Given the description of an element on the screen output the (x, y) to click on. 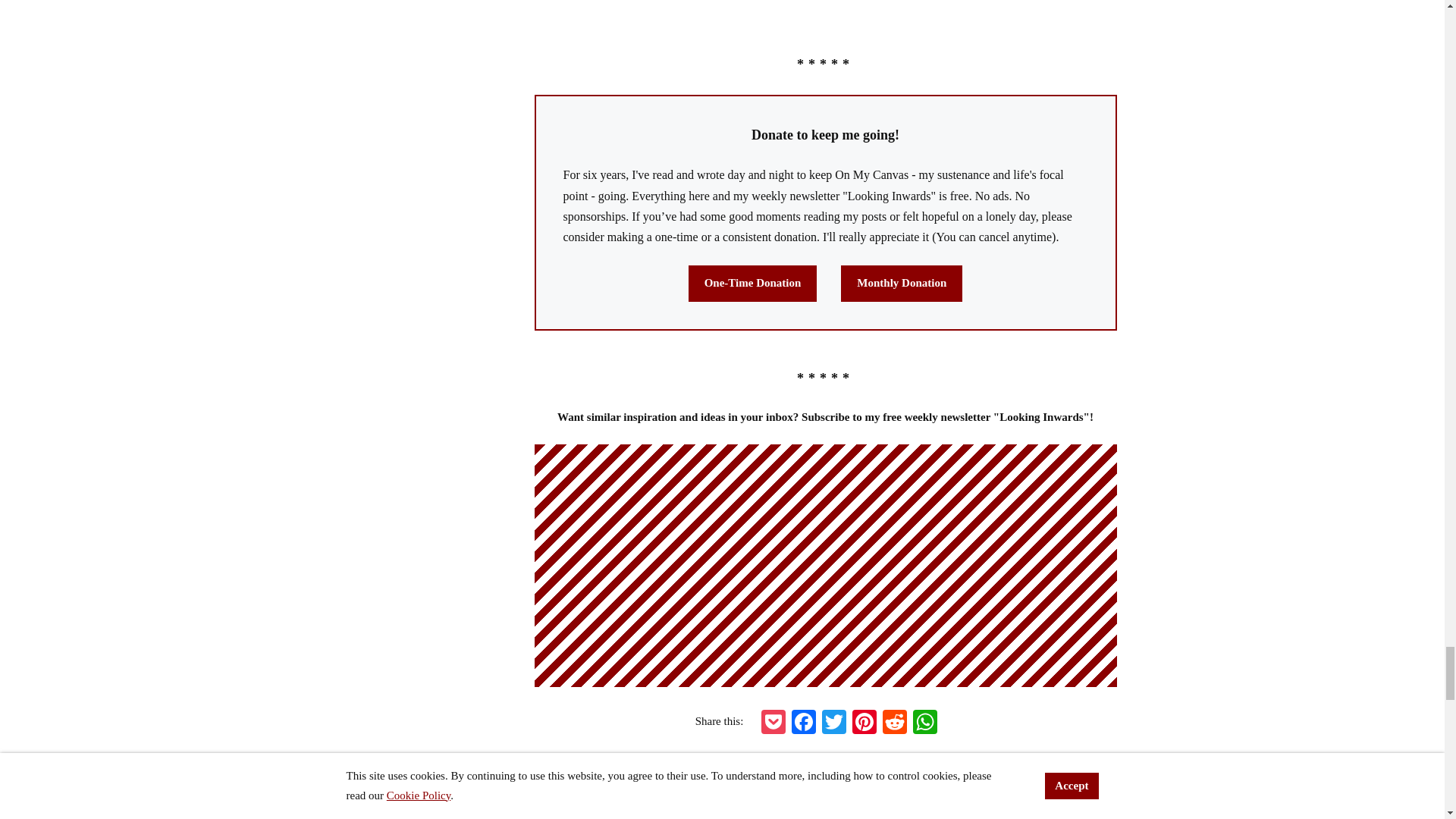
One-Time Donation (752, 283)
Monthly Donation (901, 283)
Pocket (773, 721)
